Given the description of an element on the screen output the (x, y) to click on. 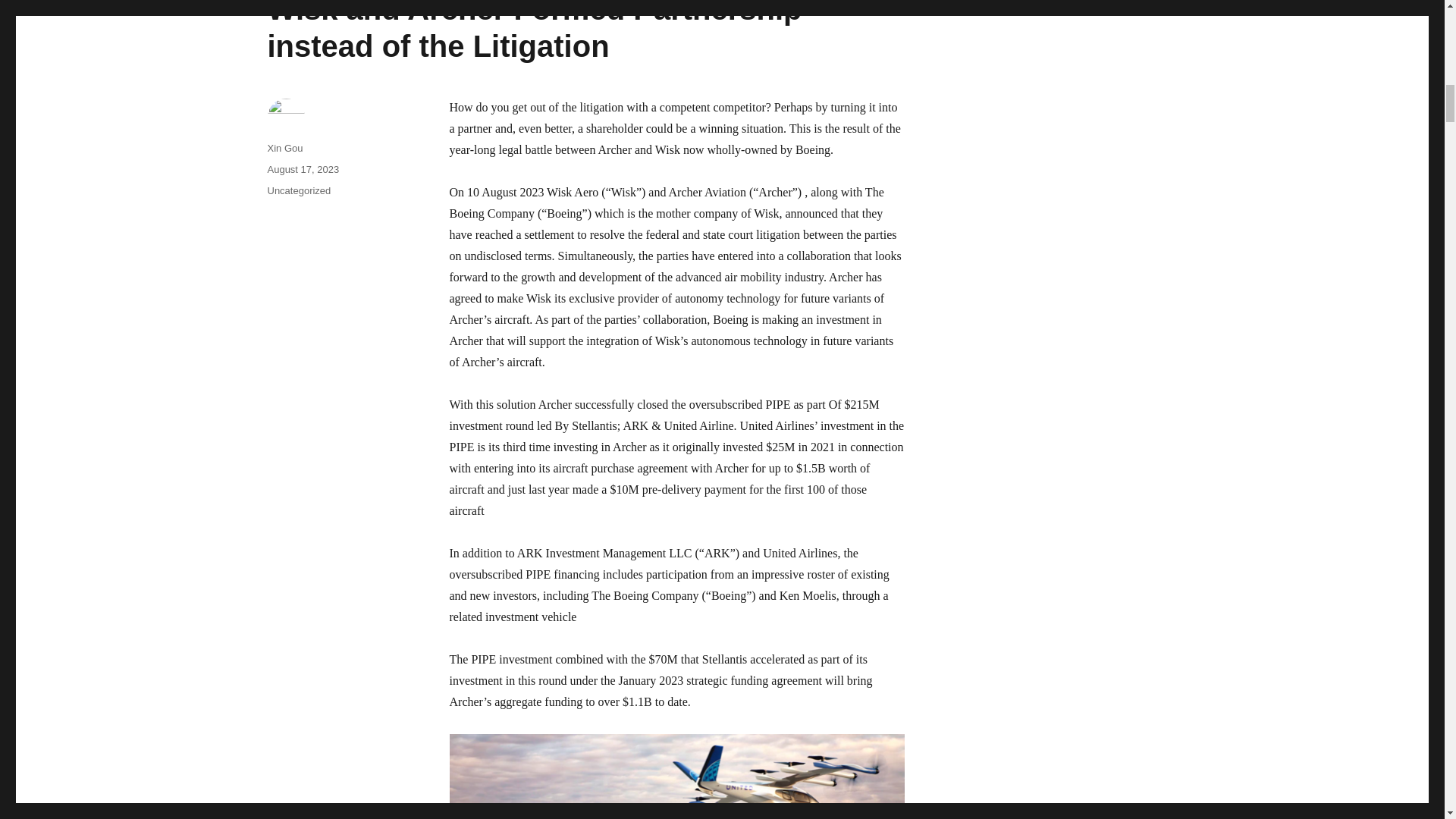
Xin Gou (284, 147)
Wisk and Archer Formed Partnership instead of the Litigation (534, 31)
Uncategorized (298, 190)
August 17, 2023 (302, 169)
